Given the description of an element on the screen output the (x, y) to click on. 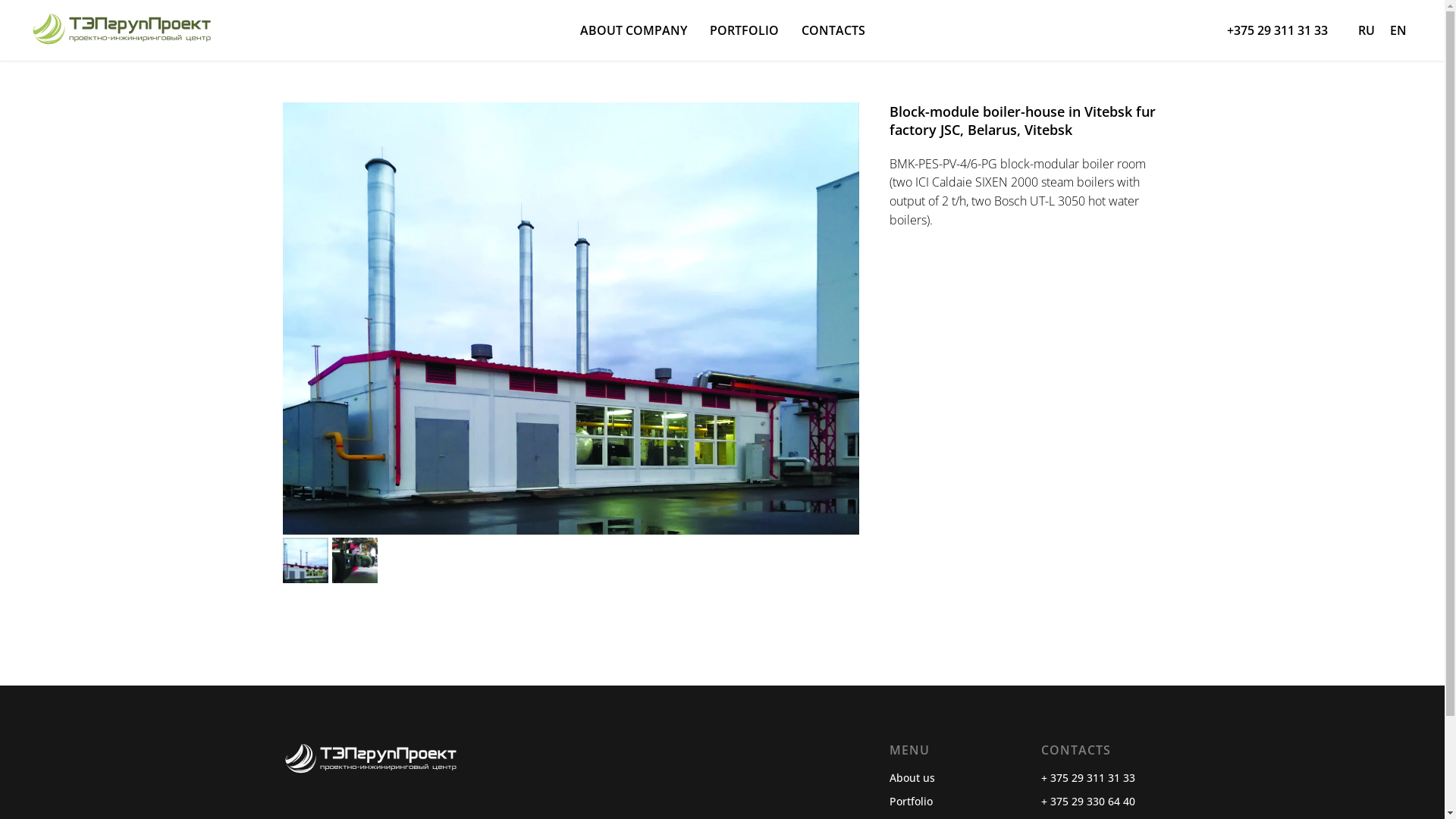
Portfolio Element type: text (909, 800)
About us Element type: text (911, 777)
RU Element type: text (1366, 29)
EN Element type: text (1398, 29)
CONTACTS Element type: text (832, 29)
ABOUT COMPANY Element type: text (632, 29)
PORTFOLIO Element type: text (743, 29)
